Given the description of an element on the screen output the (x, y) to click on. 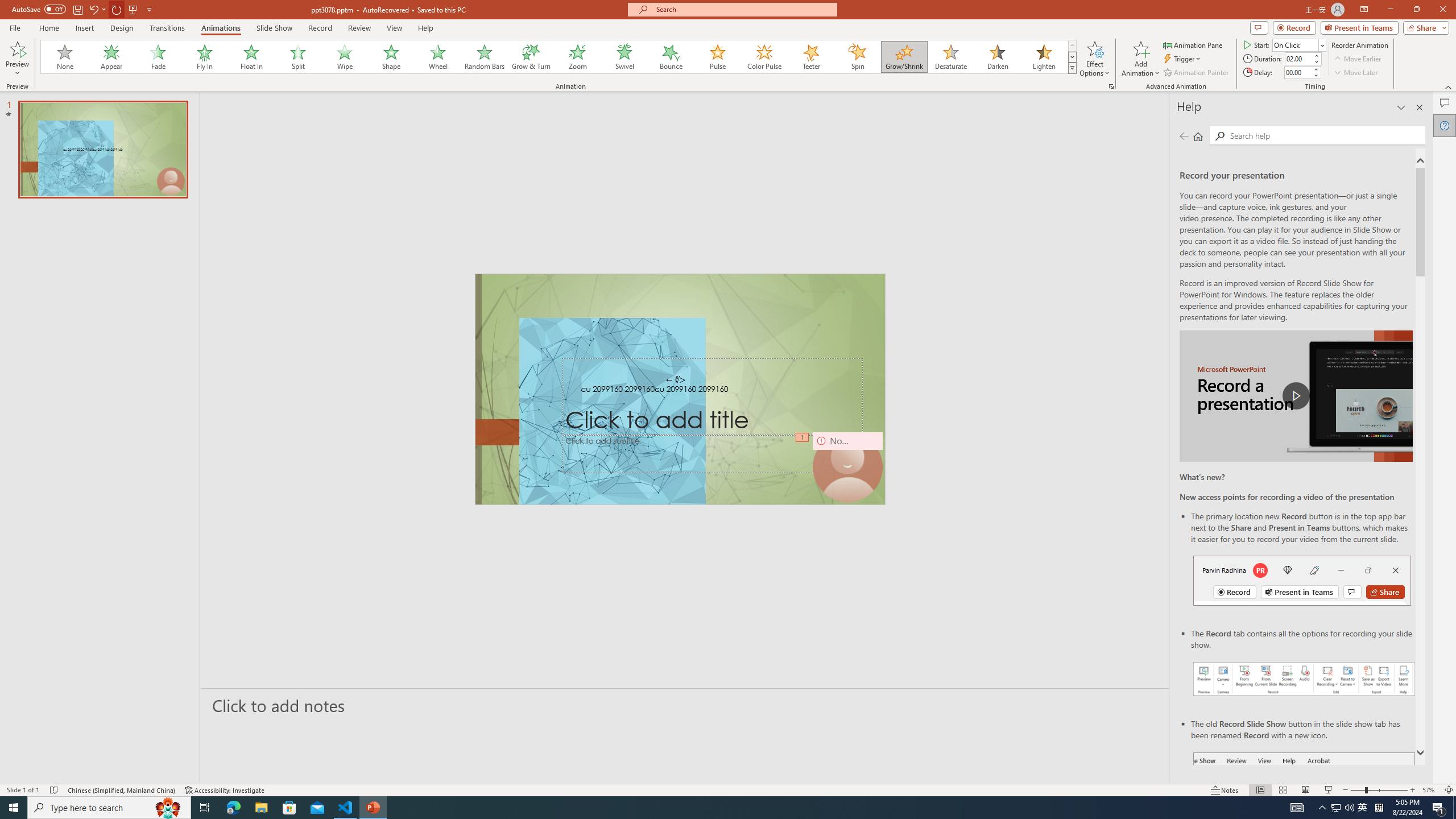
Animation, sequence 1, on Camera 9 (802, 437)
play Record a Presentation (1296, 395)
Color Pulse (764, 56)
Grow/Shrink (903, 56)
Animation Pane (1193, 44)
